Given the description of an element on the screen output the (x, y) to click on. 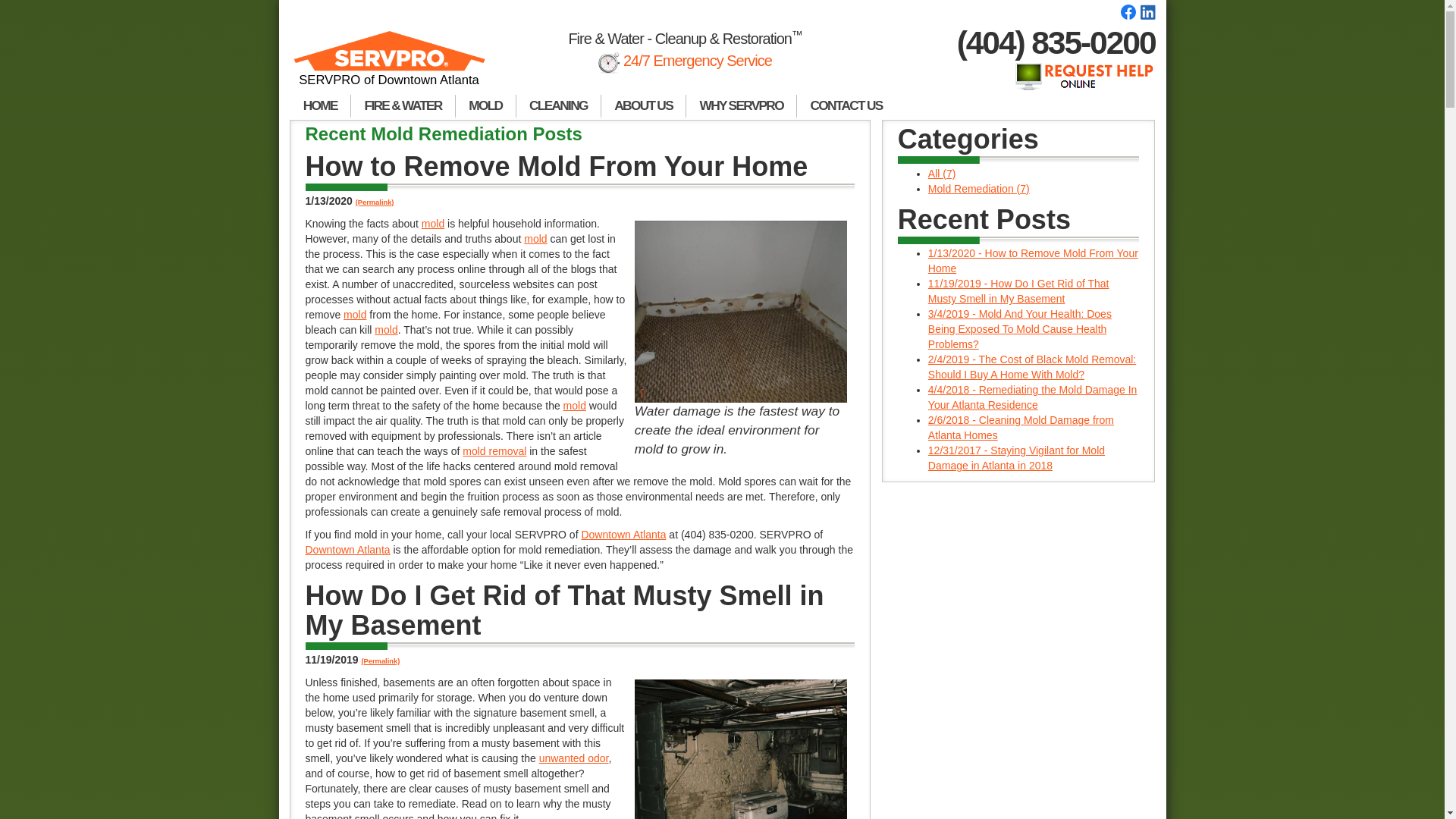
ABOUT US (643, 106)
HOME (319, 106)
CLEANING (558, 106)
SERVPRO of Downtown Atlanta (389, 64)
MOLD (485, 106)
